Given the description of an element on the screen output the (x, y) to click on. 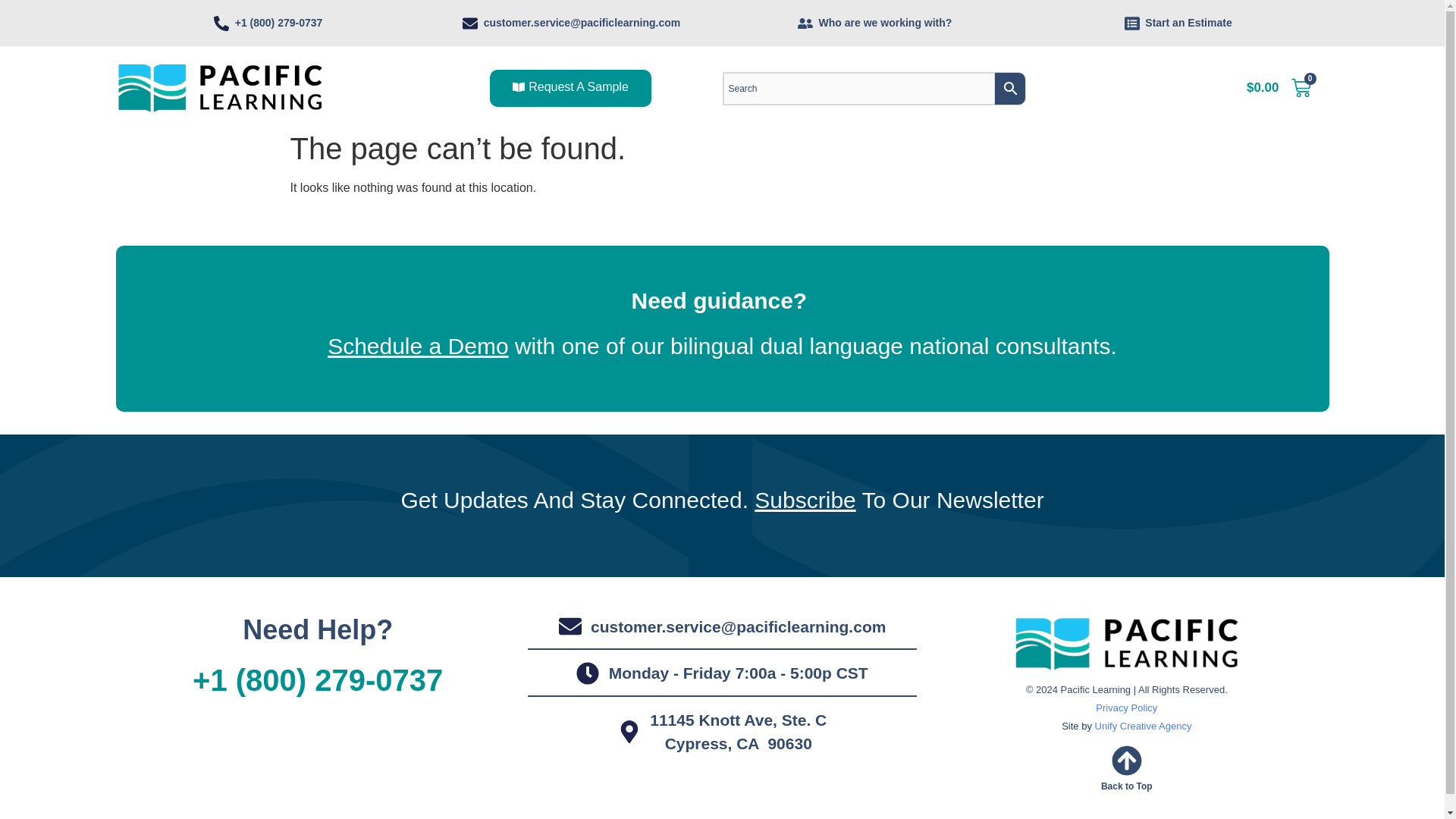
Privacy Policy (1125, 708)
Back to Top (1126, 786)
Request A Sample (569, 88)
Who are we working with? (874, 23)
Unify Creative Agency (1143, 726)
Start an Estimate (1176, 23)
